Given the description of an element on the screen output the (x, y) to click on. 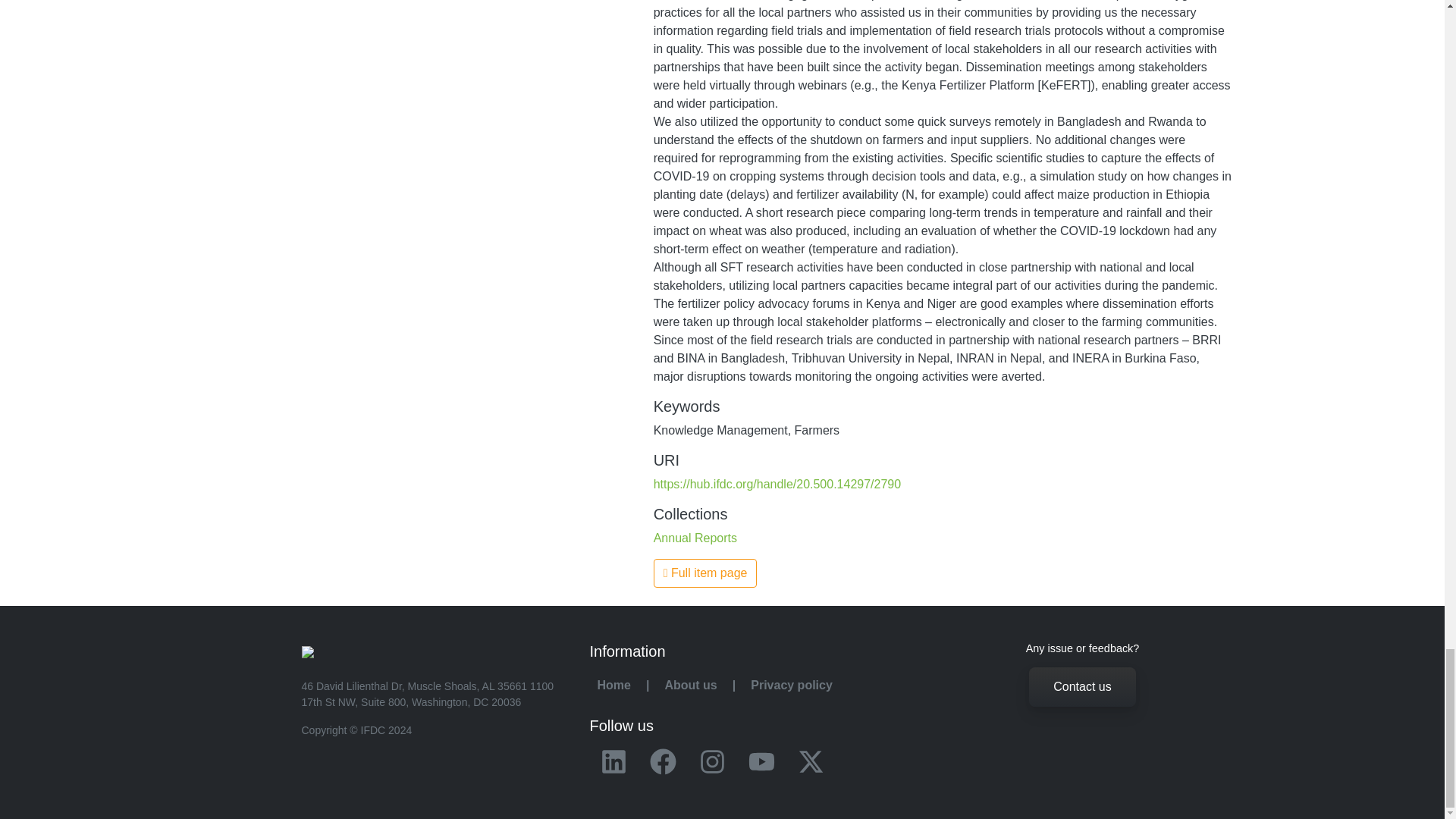
About us (690, 684)
Full item page (705, 573)
Privacy policy (790, 684)
Annual Reports (694, 537)
Home (612, 684)
